Given the description of an element on the screen output the (x, y) to click on. 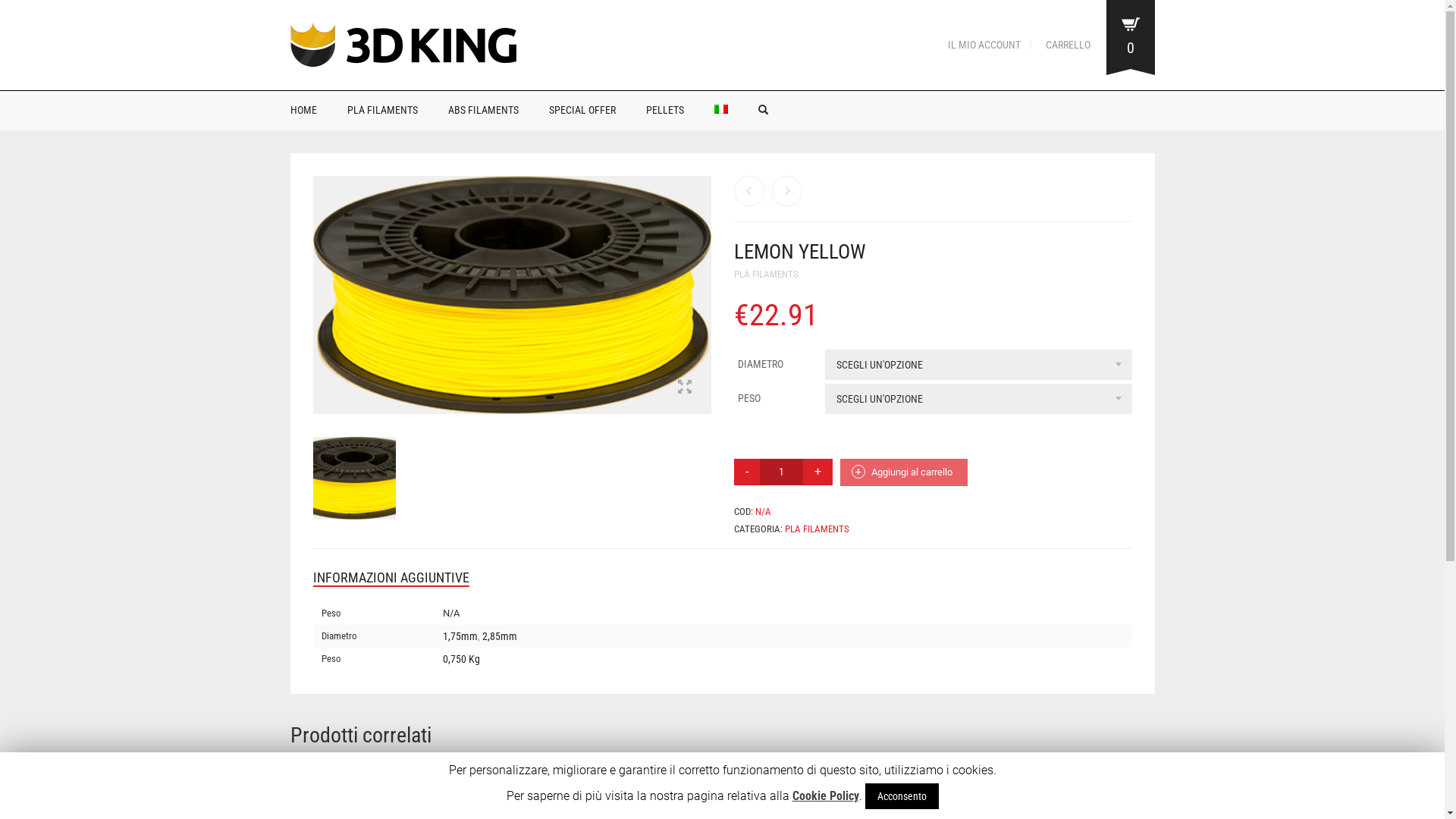
0,750 Kg Element type: text (461, 658)
Italiano Element type: hover (721, 108)
Acconsento Element type: text (901, 796)
PLA FILAMENTS Element type: text (382, 109)
2,85mm Element type: text (499, 636)
View product photo in fullscreen Element type: hover (684, 387)
HOME Element type: text (306, 109)
Cookie Policy Element type: text (824, 796)
ABS FILAMENTS Element type: text (482, 109)
INFORMAZIONI AGGIUNTIVE Element type: text (390, 577)
SPECIAL OFFER Element type: text (582, 109)
PLA FILAMENTS Element type: text (766, 273)
Carbon Black Element type: hover (786, 190)
0 Element type: text (1129, 39)
CARRELLO Element type: text (1063, 44)
Aggiungi al carrello Element type: text (903, 472)
PELLETS Element type: text (664, 109)
1,75mm Element type: text (459, 636)
yellow_lemon Element type: hover (353, 477)
PLA FILAMENTS Element type: text (816, 528)
IL MIO ACCOUNT Element type: text (984, 44)
yellow_lemon Element type: hover (511, 294)
